Given the description of an element on the screen output the (x, y) to click on. 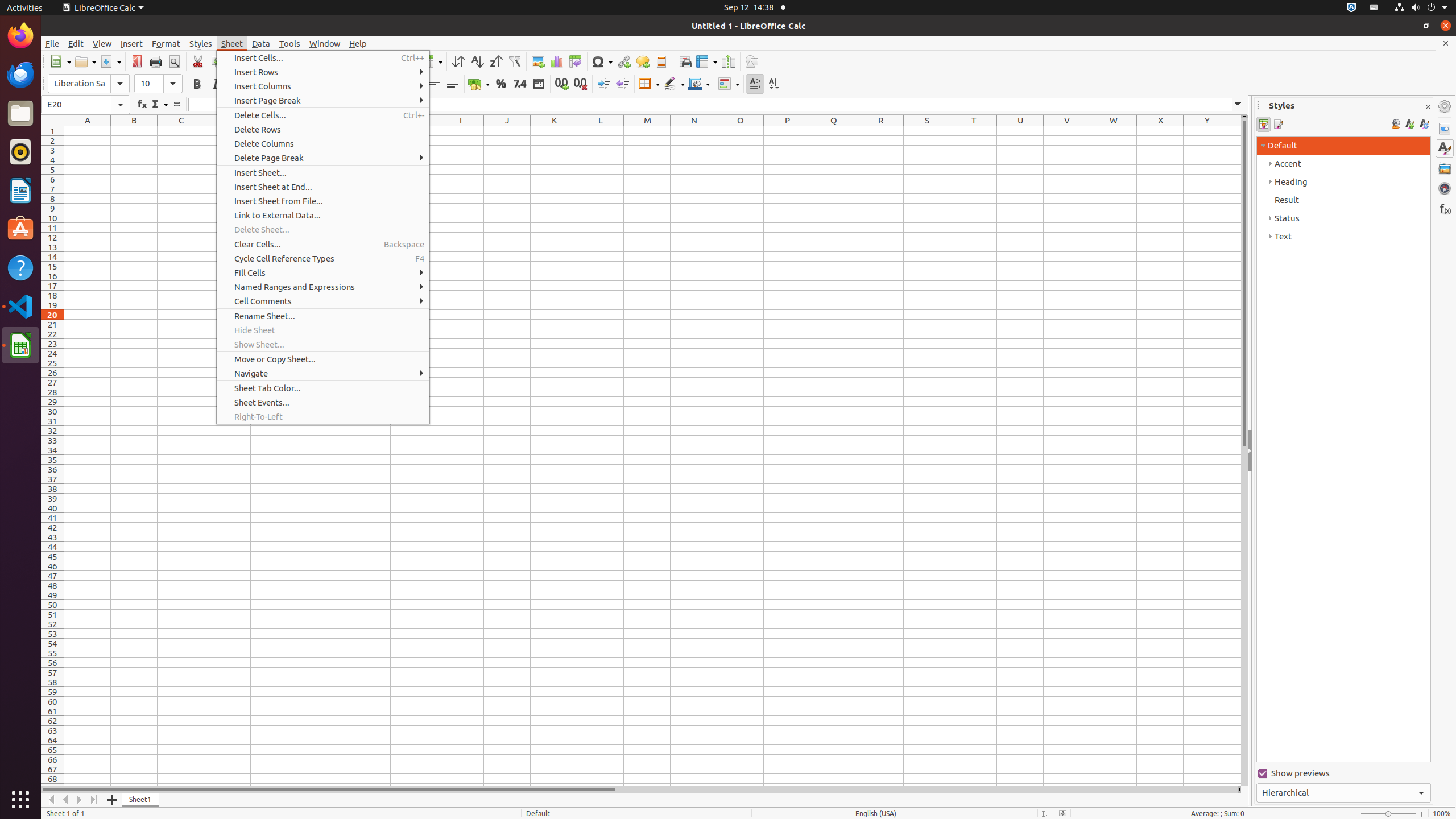
Hide Sheet Element type: menu-item (322, 330)
Print Preview Element type: toggle-button (173, 61)
Print Area Element type: push-button (684, 61)
LibreOffice Calc Element type: push-button (20, 344)
N1 Element type: table-cell (693, 130)
